Given the description of an element on the screen output the (x, y) to click on. 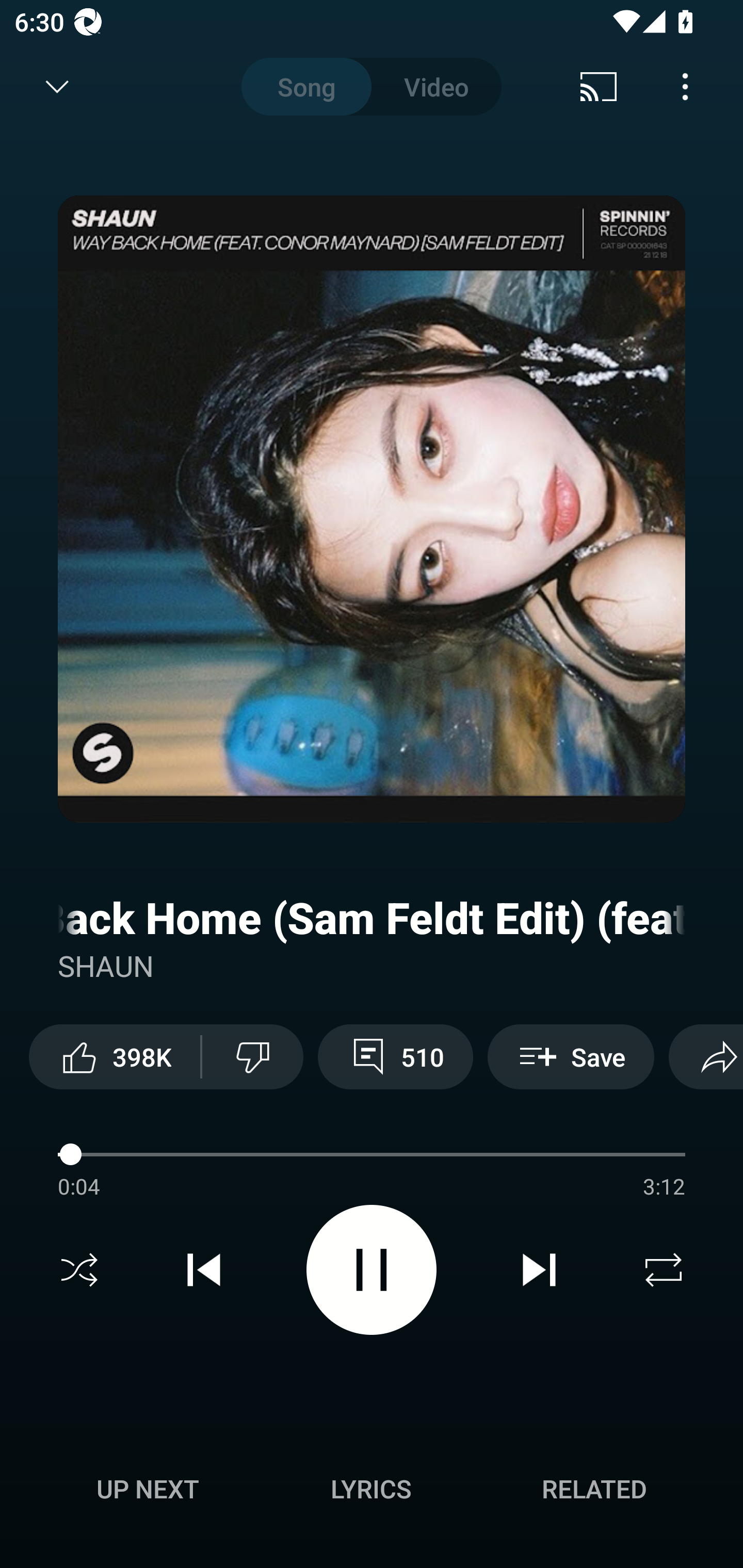
Minimize (57, 86)
Cast. Disconnected (598, 86)
Menu (684, 86)
Dislike (252, 1056)
510 View 510 comments (395, 1056)
Save Save to playlist (570, 1056)
Share (705, 1056)
Pause video (371, 1269)
Shuffle off (79, 1269)
Previous track (203, 1269)
Next track (538, 1269)
Repeat off (663, 1269)
Up next UP NEXT Lyrics LYRICS Related RELATED (371, 1491)
Lyrics LYRICS (370, 1488)
Related RELATED (594, 1488)
